Given the description of an element on the screen output the (x, y) to click on. 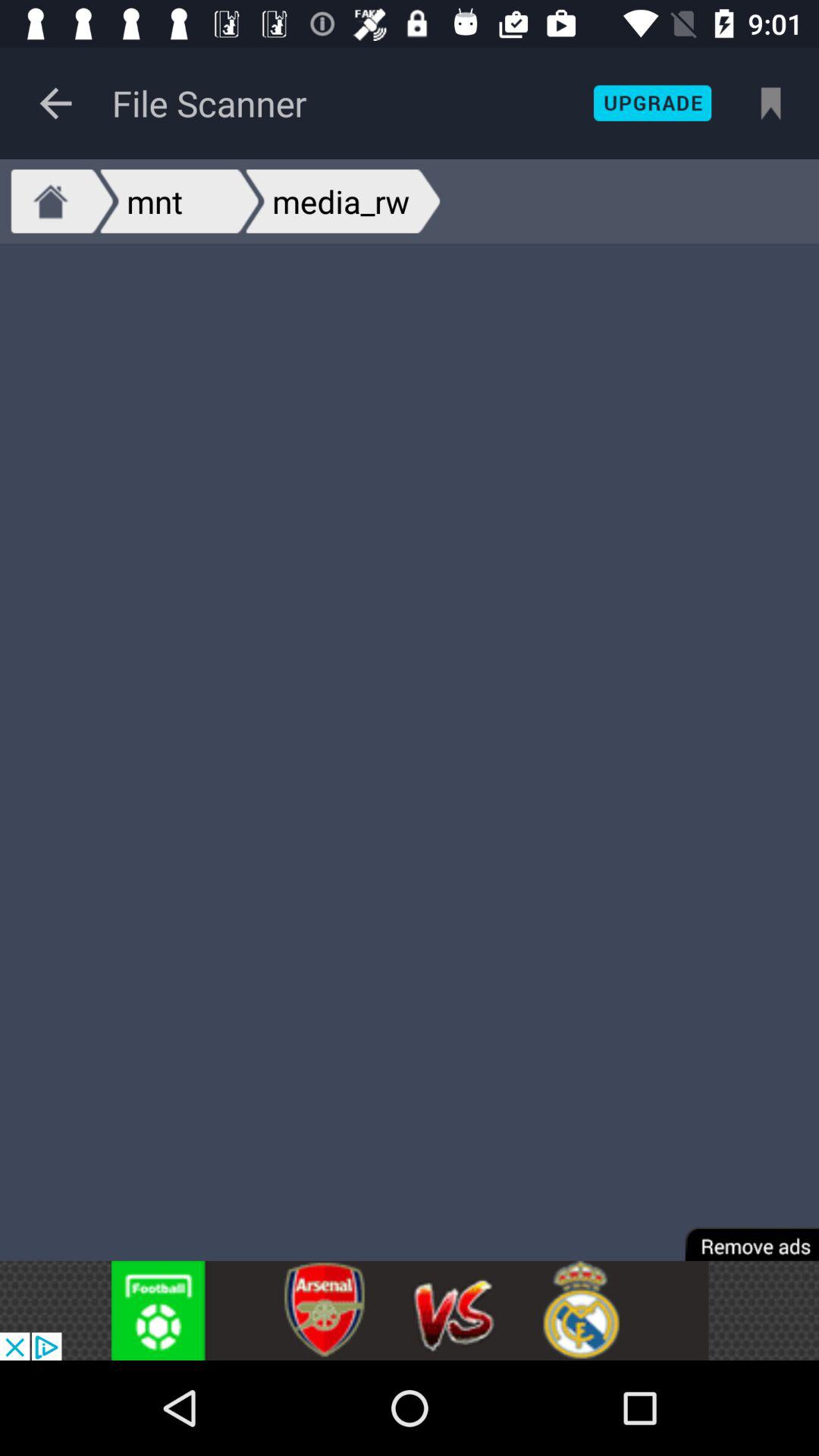
go back (55, 103)
